Given the description of an element on the screen output the (x, y) to click on. 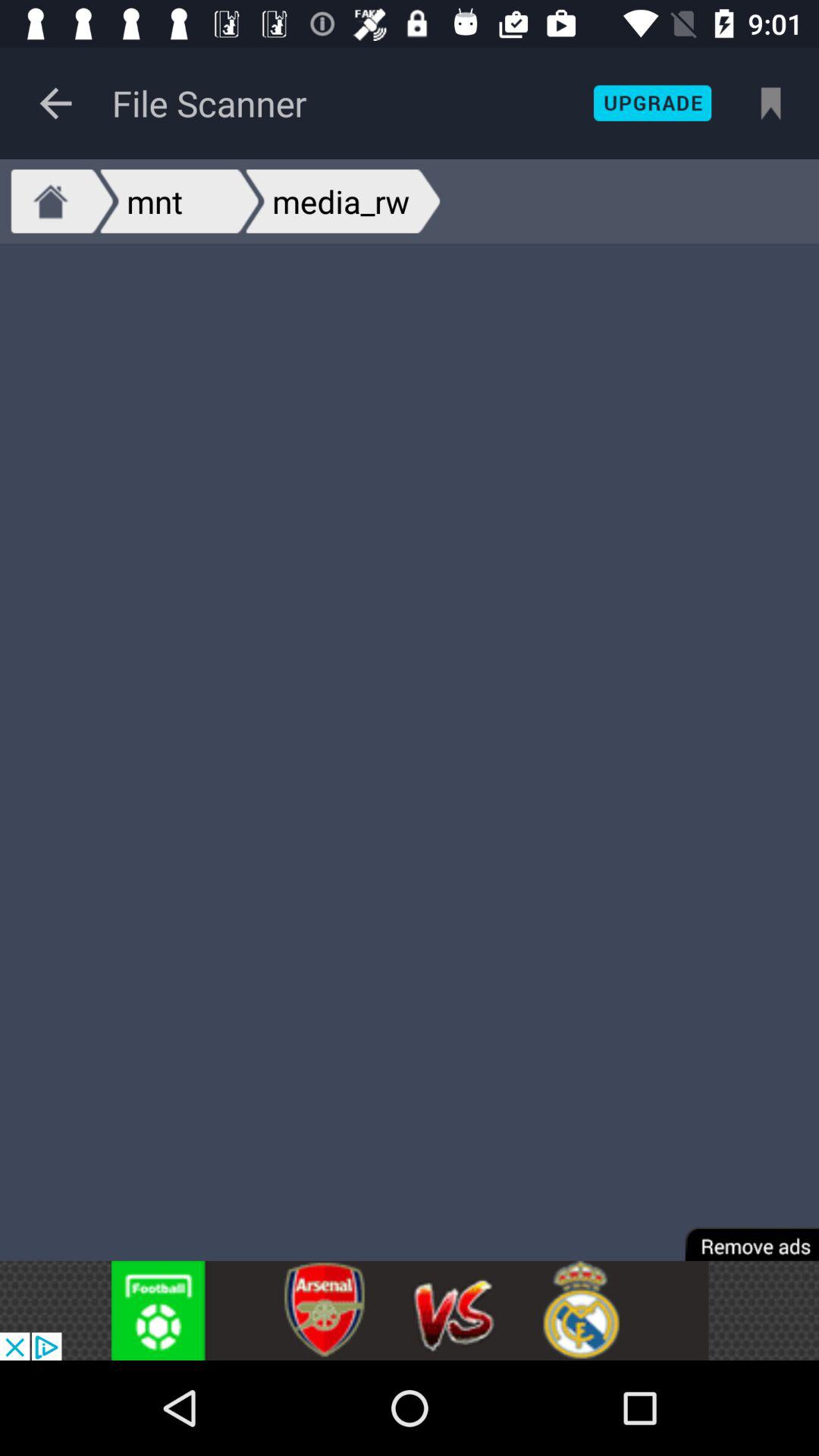
go back (55, 103)
